Given the description of an element on the screen output the (x, y) to click on. 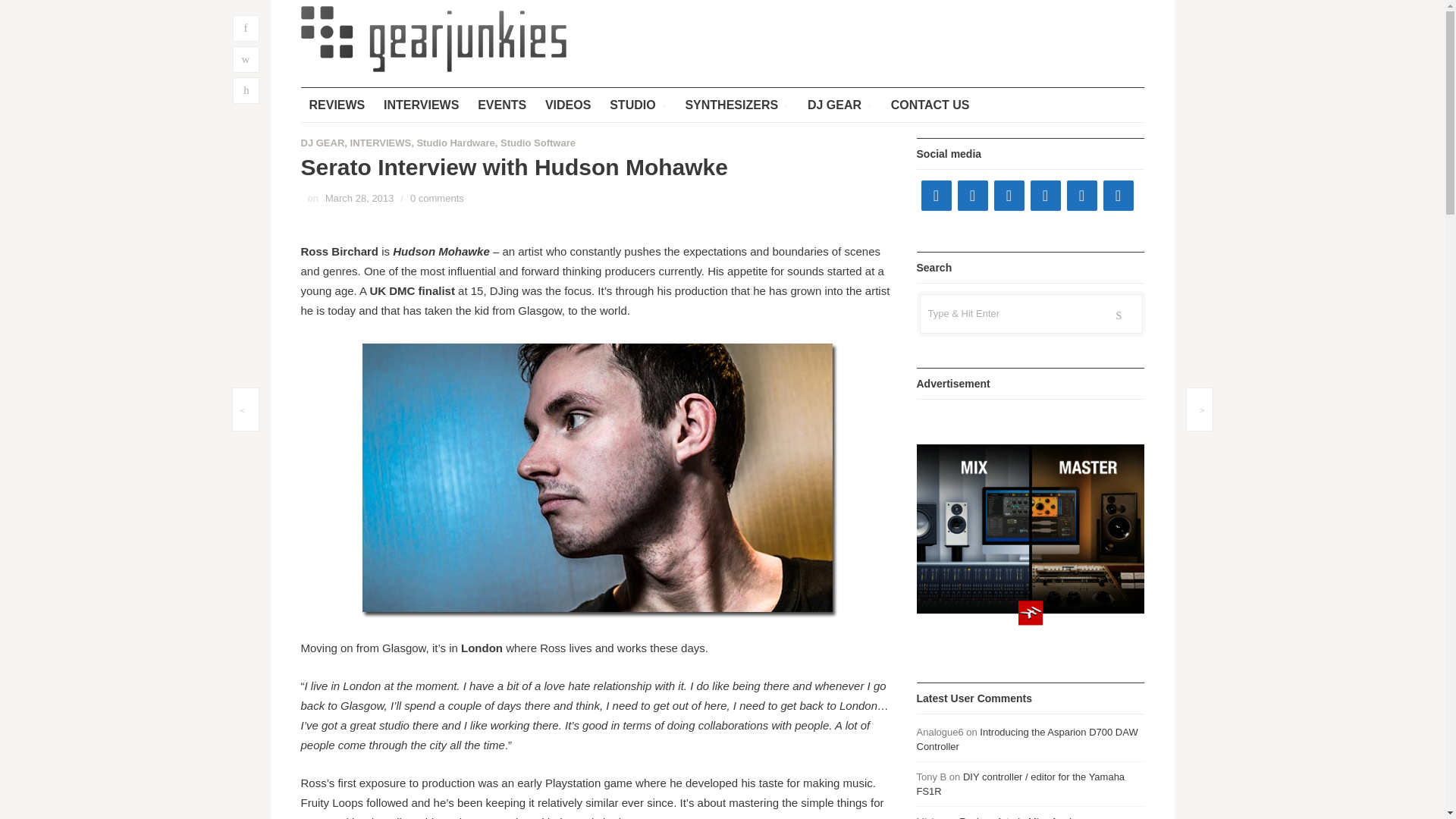
STUDIO (637, 104)
DJ GEAR (839, 104)
Studio Hardware (455, 142)
Studio Software (537, 142)
REVIEWS (335, 104)
VIDEOS (567, 104)
0 comments (437, 197)
f (245, 28)
INTERVIEWS (421, 104)
INTERVIEWS (381, 142)
CONTACT US (930, 104)
March 28, 2013 (358, 197)
EVENTS (501, 104)
Facebook (935, 195)
Permalink to Serato Interview with Hudson Mohawke (358, 197)
